Given the description of an element on the screen output the (x, y) to click on. 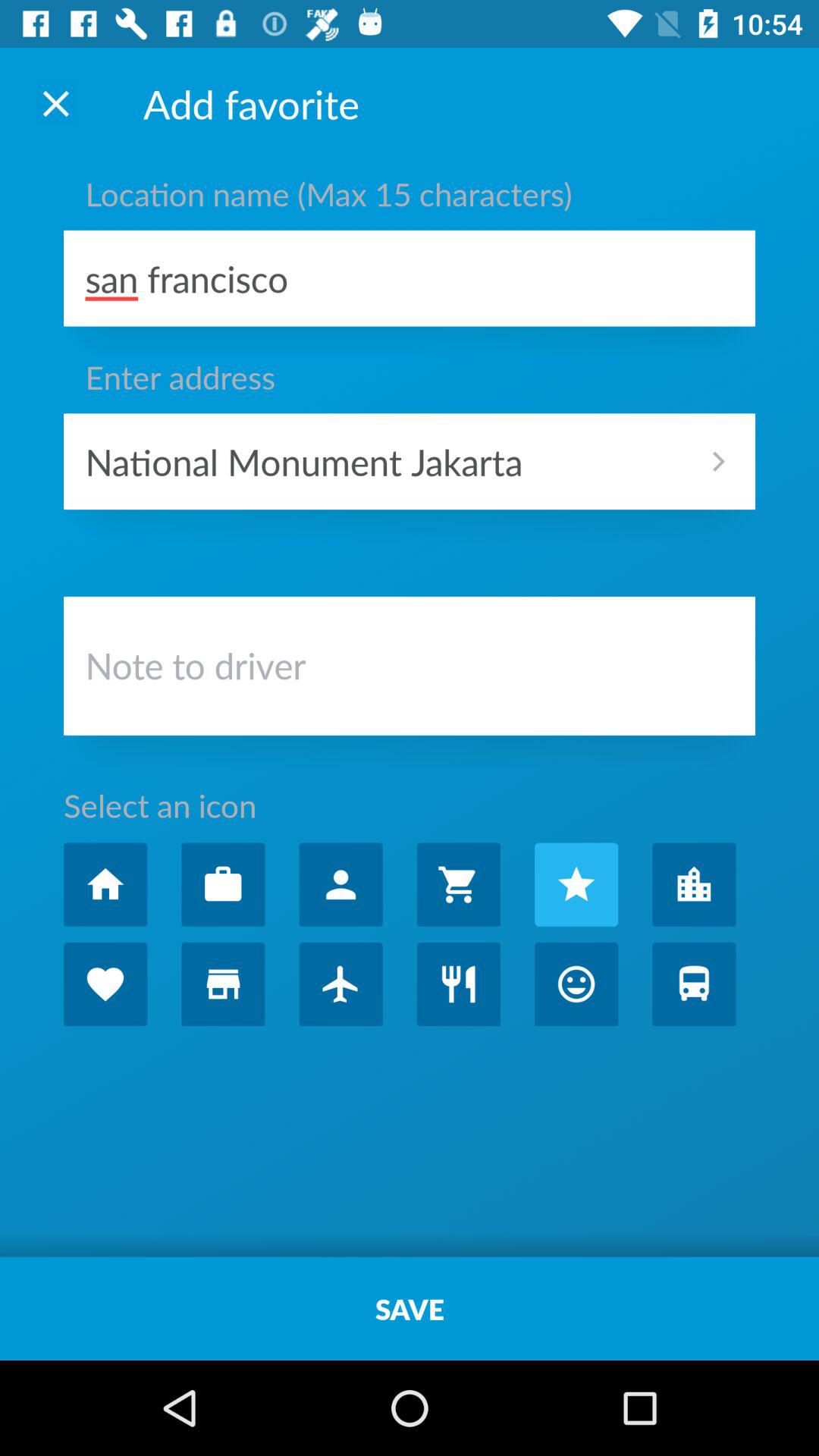
autoplay option (458, 984)
